Given the description of an element on the screen output the (x, y) to click on. 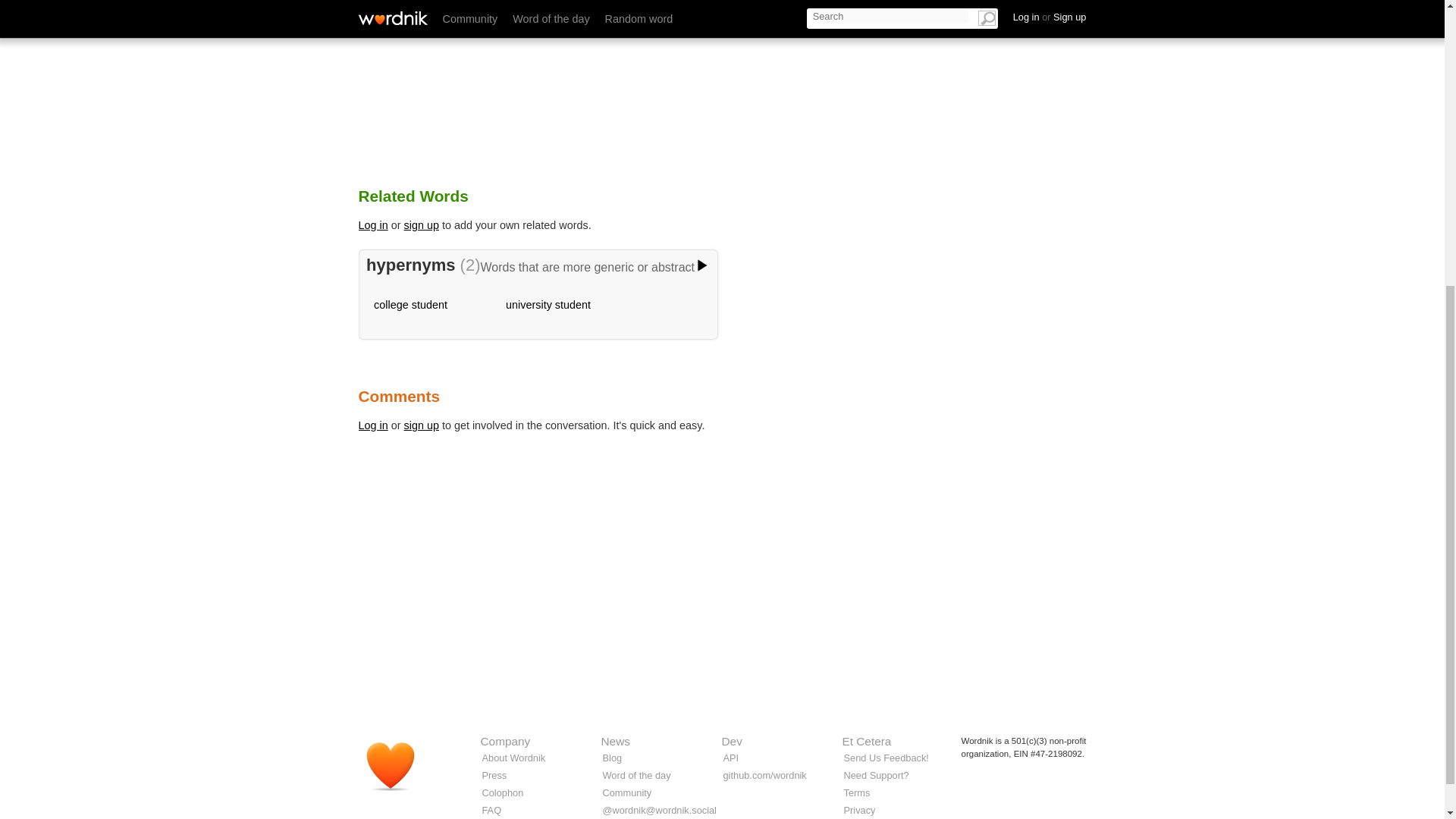
FAQ (491, 809)
News (613, 740)
sign up (421, 425)
Log in (372, 425)
Wordnik Online Dictionary (397, 771)
3rd party ad content (721, 643)
About Wordnik (513, 757)
About Wordnik (513, 757)
Blog (611, 757)
3rd party ad content (934, 75)
Press (493, 775)
Community (626, 792)
Colophon (502, 792)
Dev (732, 740)
Company (505, 740)
